Given the description of an element on the screen output the (x, y) to click on. 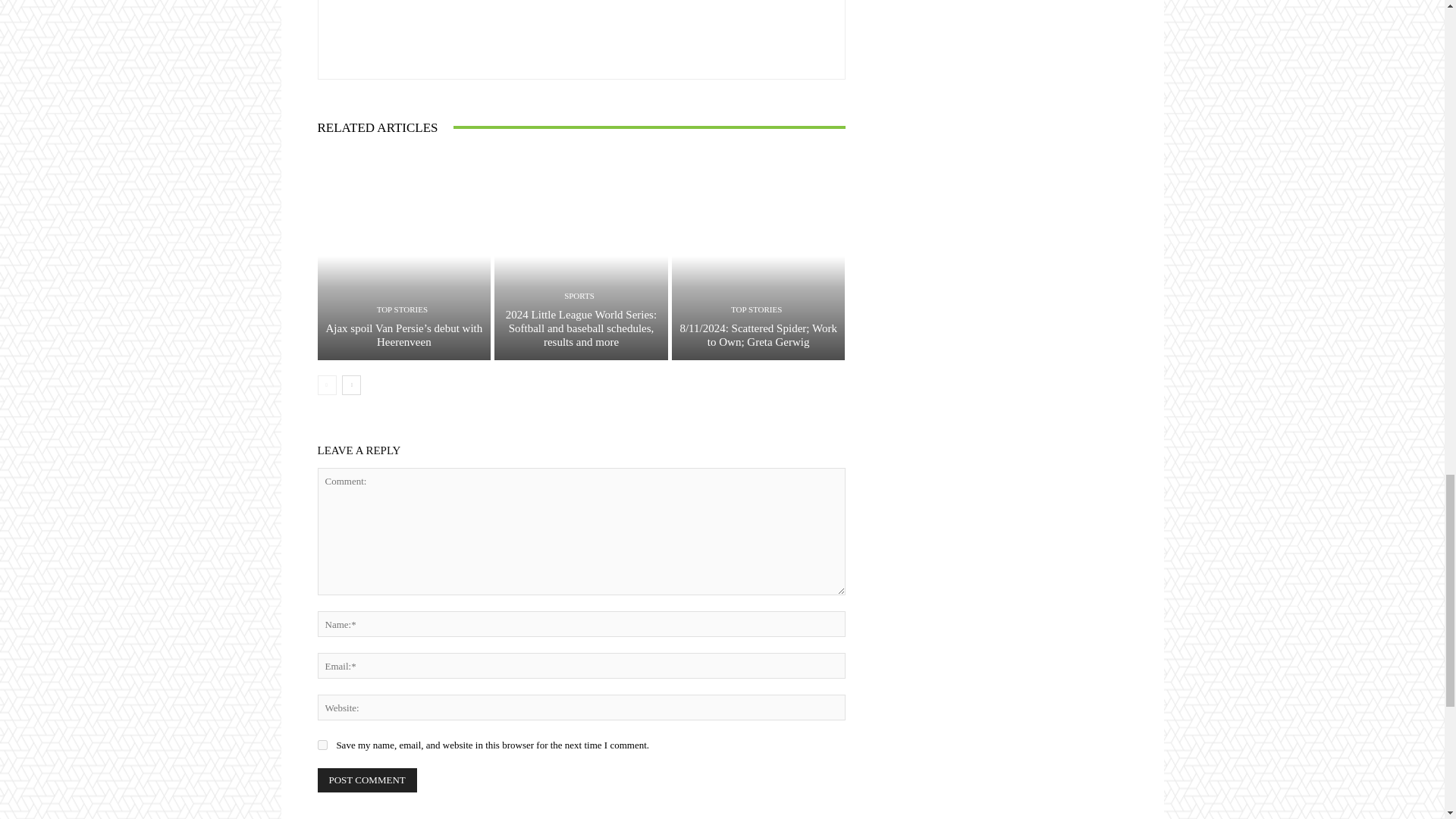
Post Comment (366, 780)
yes (321, 745)
News (523, 31)
